Given the description of an element on the screen output the (x, y) to click on. 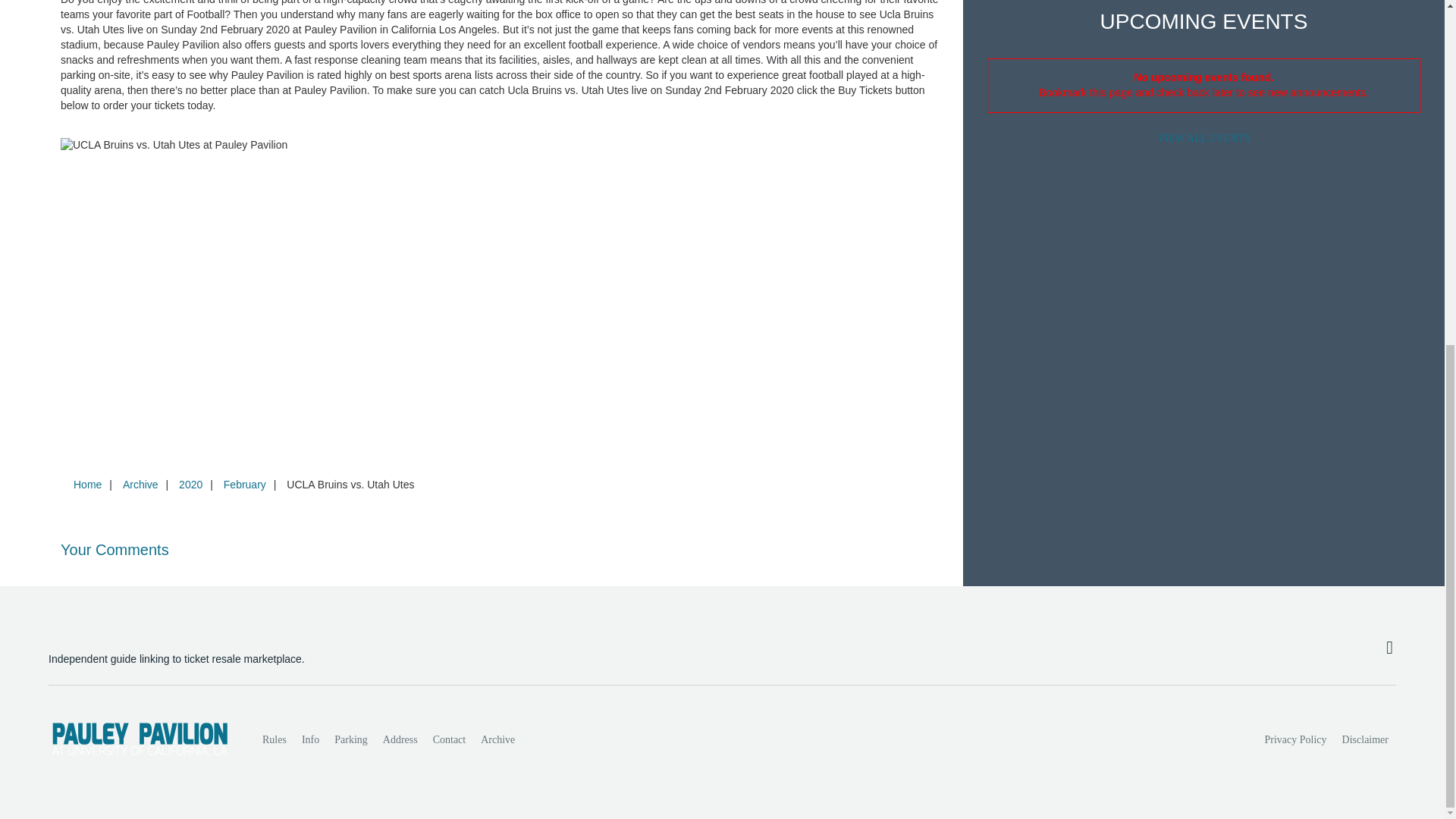
Rules (274, 739)
Archive (497, 739)
VIEW ALL EVENTS (1203, 138)
Privacy Policy (1296, 739)
Home (87, 484)
Parking (350, 739)
Disclaimer (1365, 739)
Info (310, 739)
UCLA Bruins vs. Utah Utes at Pauley Pavilion tickets (500, 145)
Archive (140, 484)
